Given the description of an element on the screen output the (x, y) to click on. 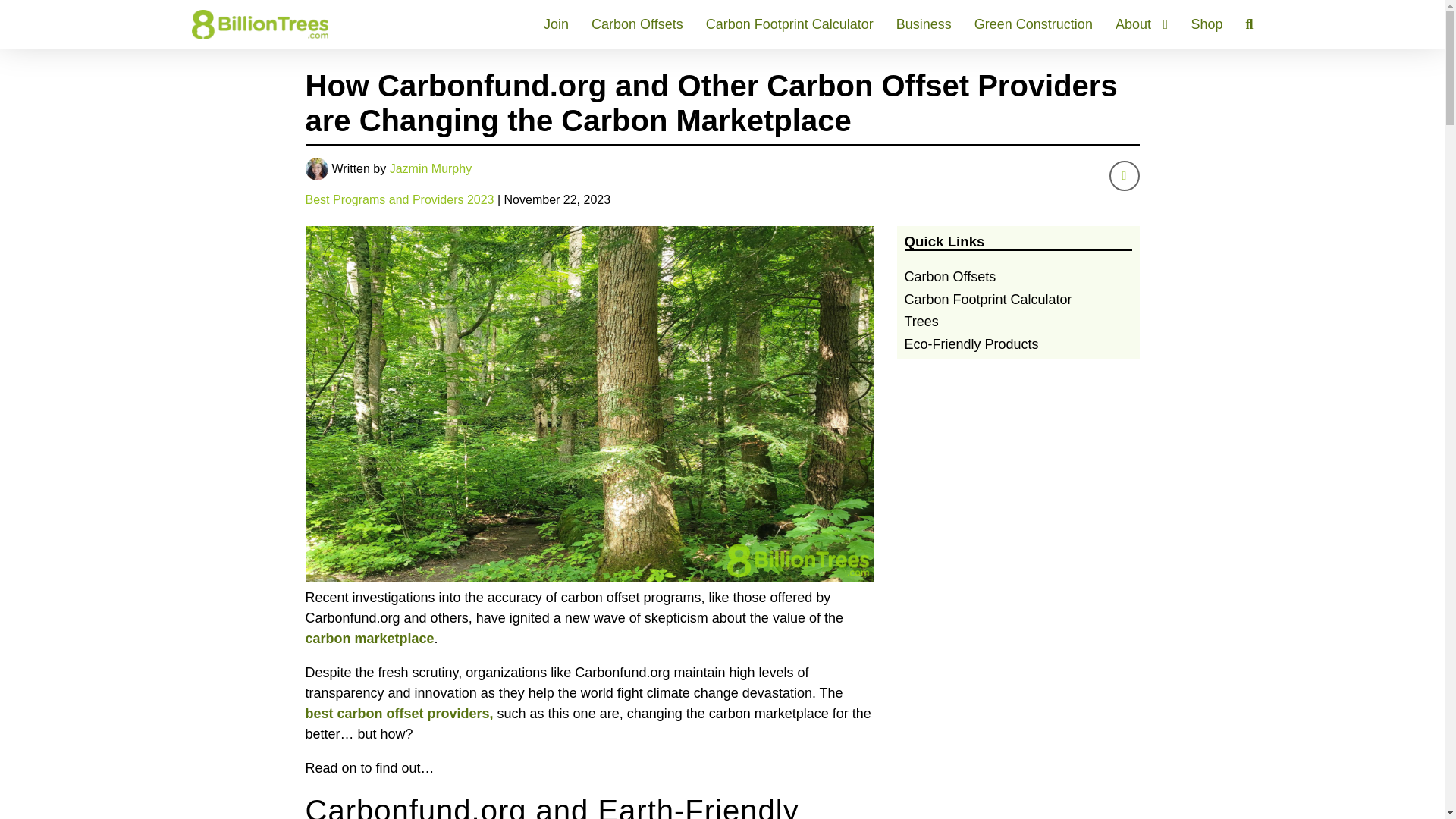
Green Construction (1033, 24)
carbon marketplace (368, 638)
Jazmin Murphy (430, 168)
Carbon Footprint Calculator (789, 24)
Best Programs and Providers 2023 (398, 199)
Business (924, 24)
best carbon offset providers, (398, 713)
Shop (1207, 24)
Carbon Offsets (636, 24)
About (1142, 24)
